Given the description of an element on the screen output the (x, y) to click on. 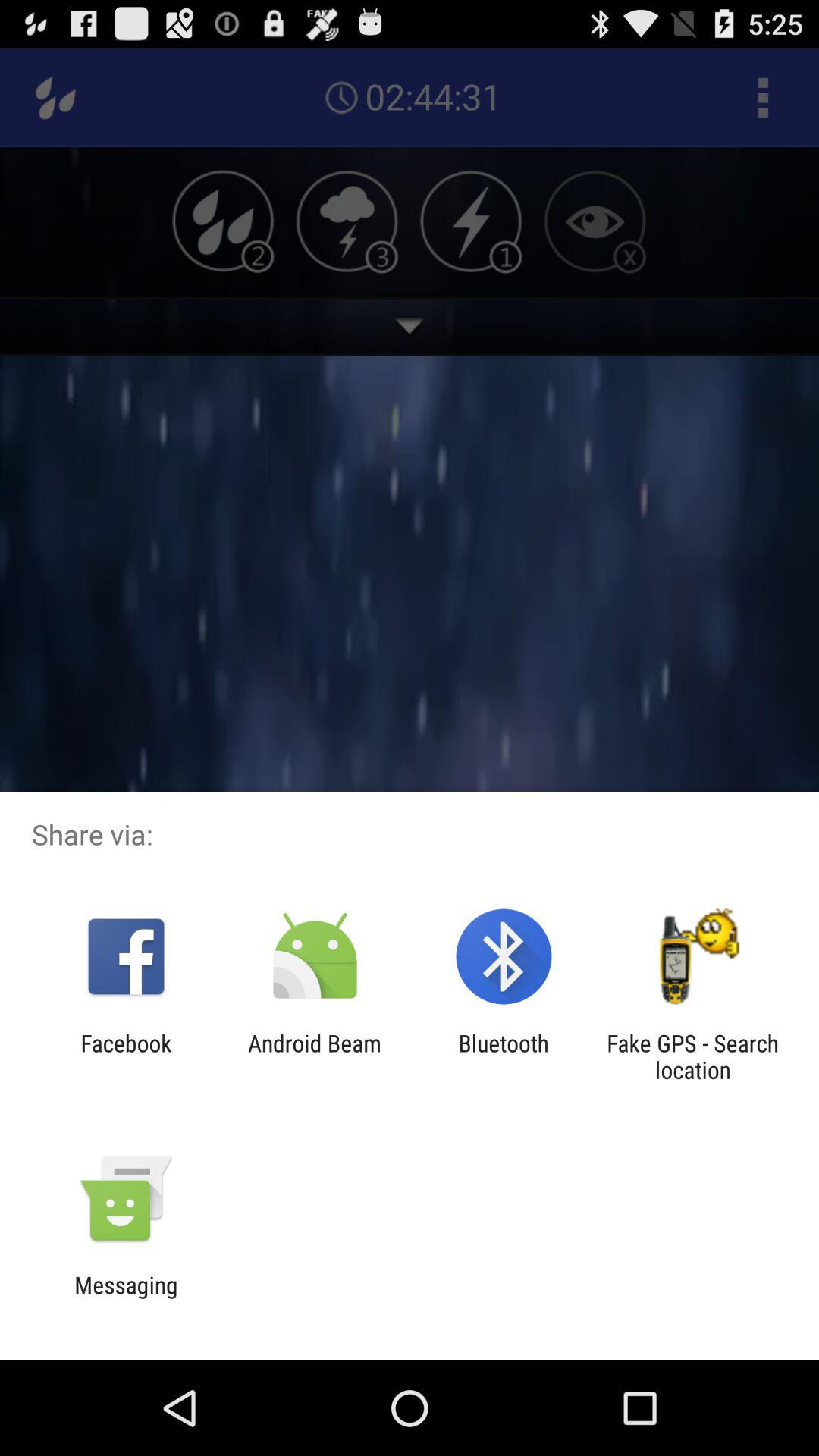
select app at the bottom right corner (692, 1056)
